Given the description of an element on the screen output the (x, y) to click on. 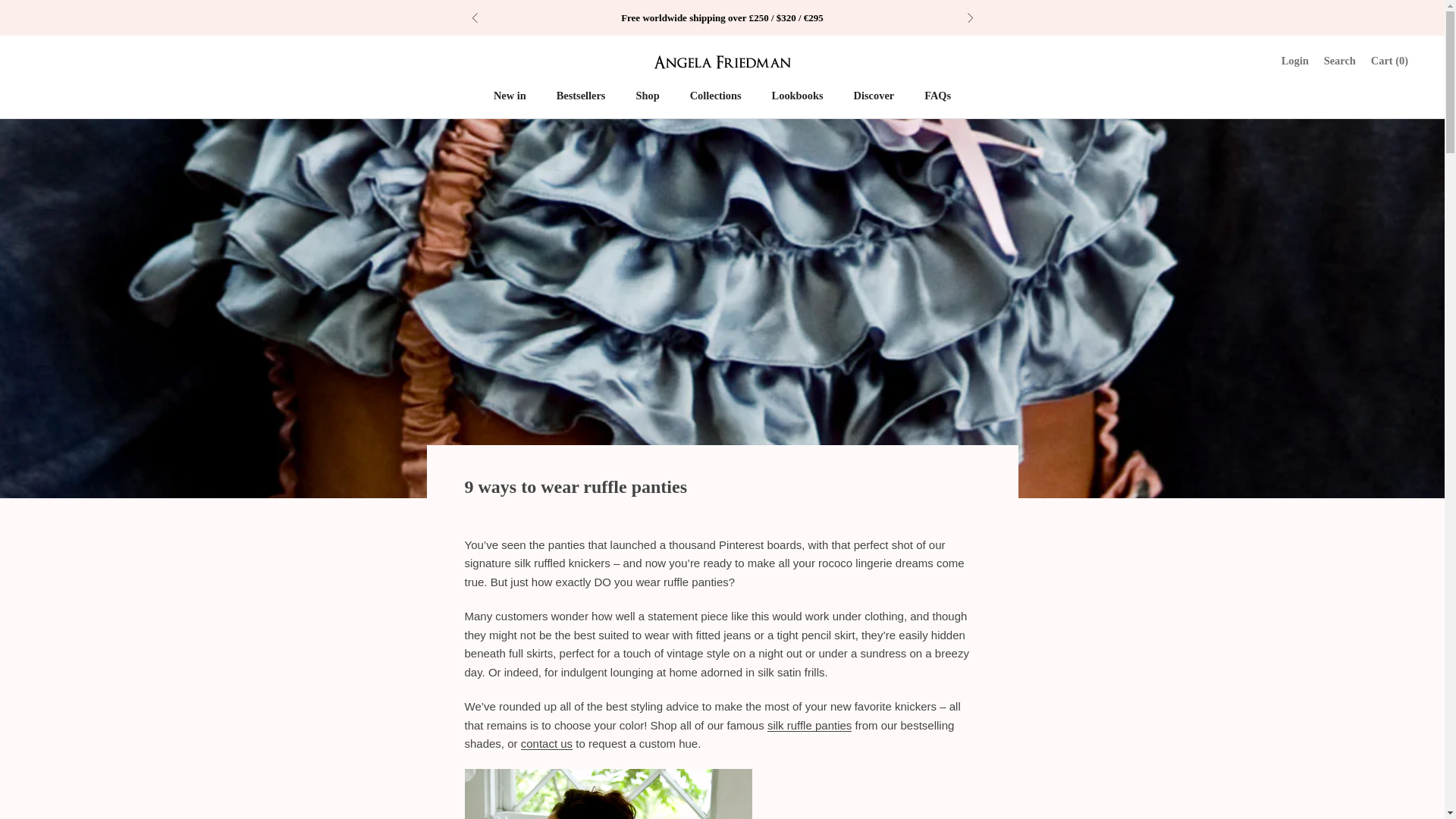
Contact us to request custom ruffle knicker options (546, 743)
Silk ruffle panties (809, 725)
New in (509, 95)
Bestsellers (580, 95)
Angela Friedman (721, 61)
